Given the description of an element on the screen output the (x, y) to click on. 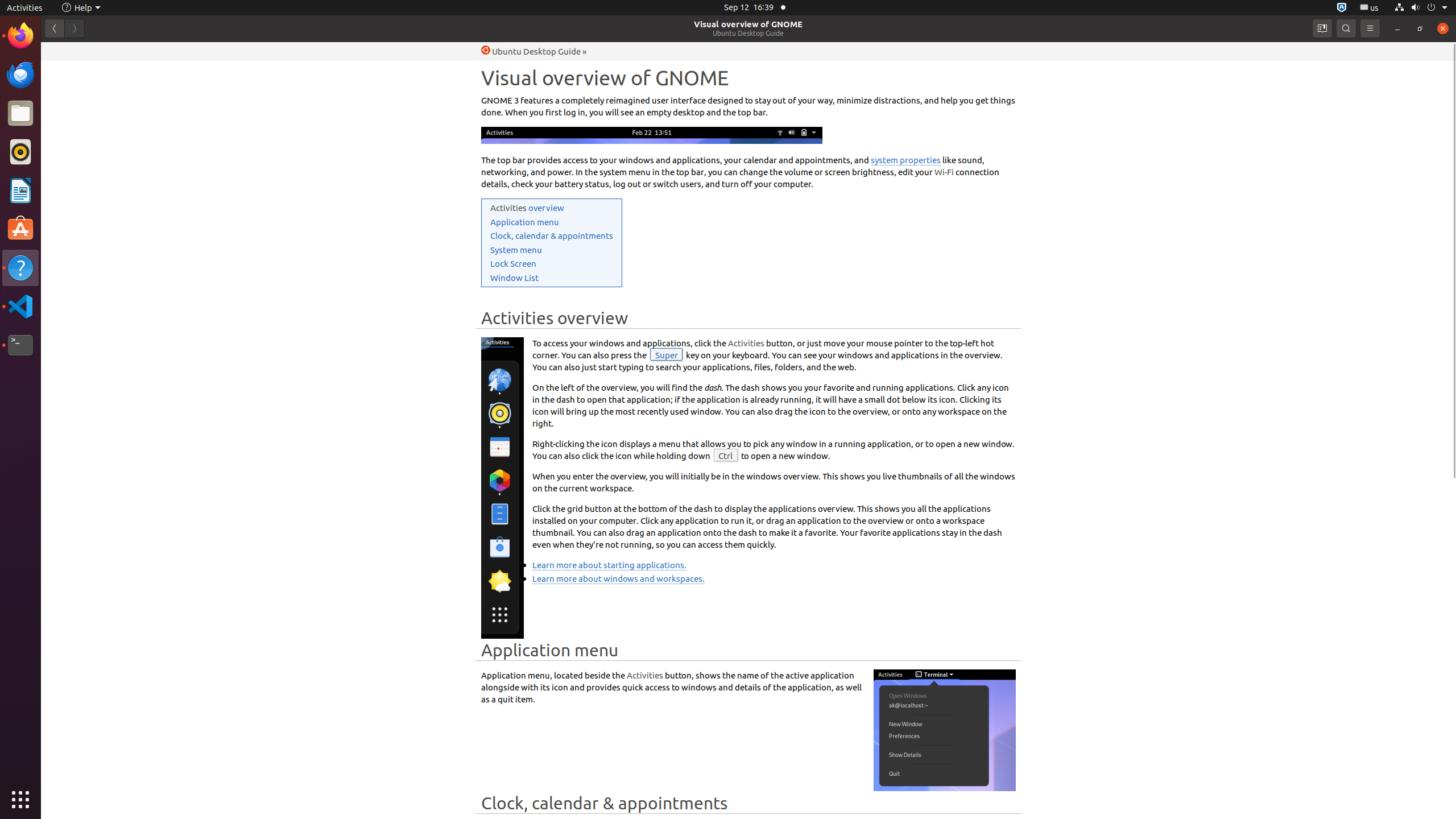
luyi1 Element type: label (75, 50)
Trash Element type: label (75, 108)
Lock Screen Element type: link (513, 263)
